Given the description of an element on the screen output the (x, y) to click on. 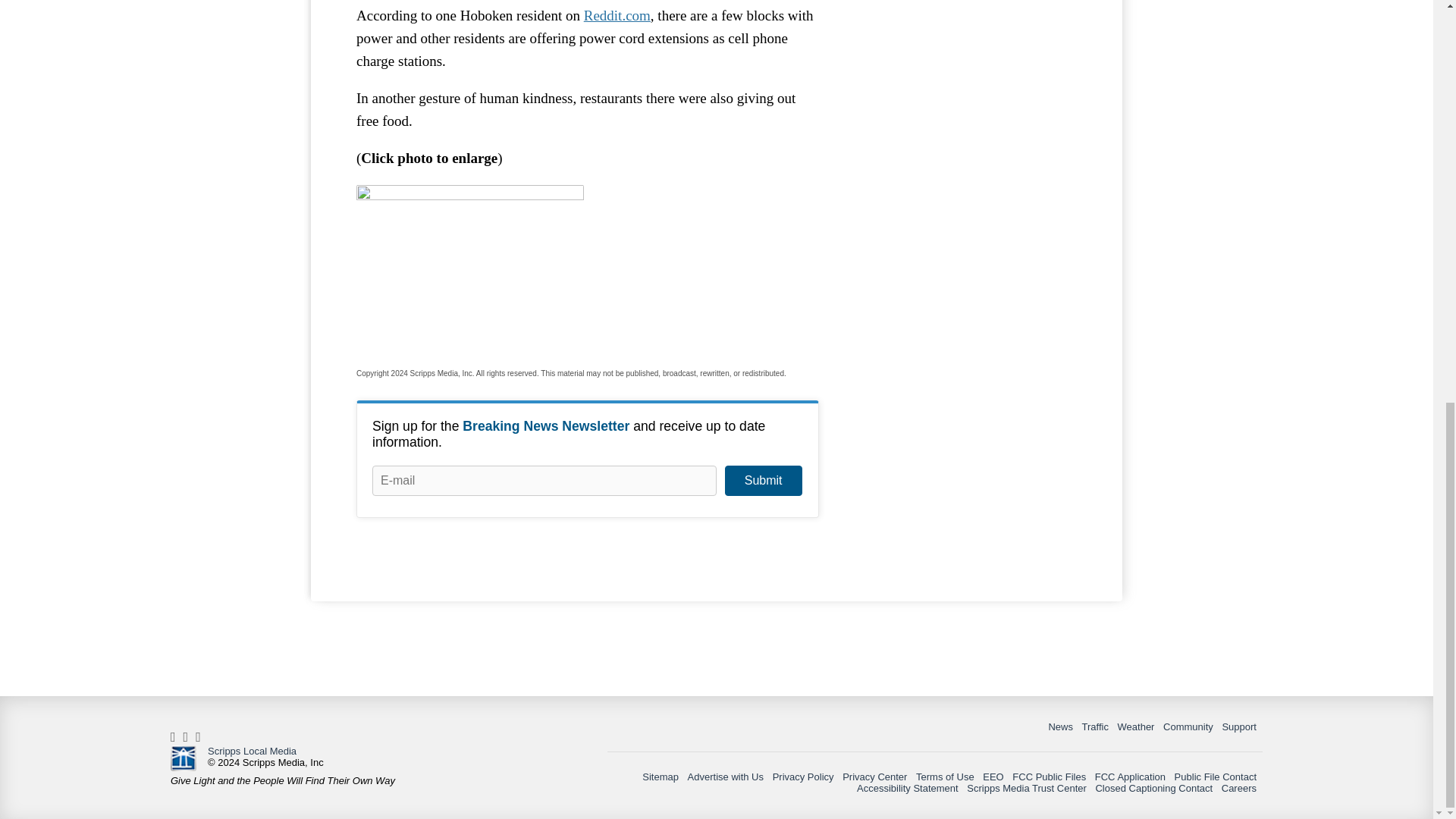
Submit (763, 481)
power offering (469, 269)
